Given the description of an element on the screen output the (x, y) to click on. 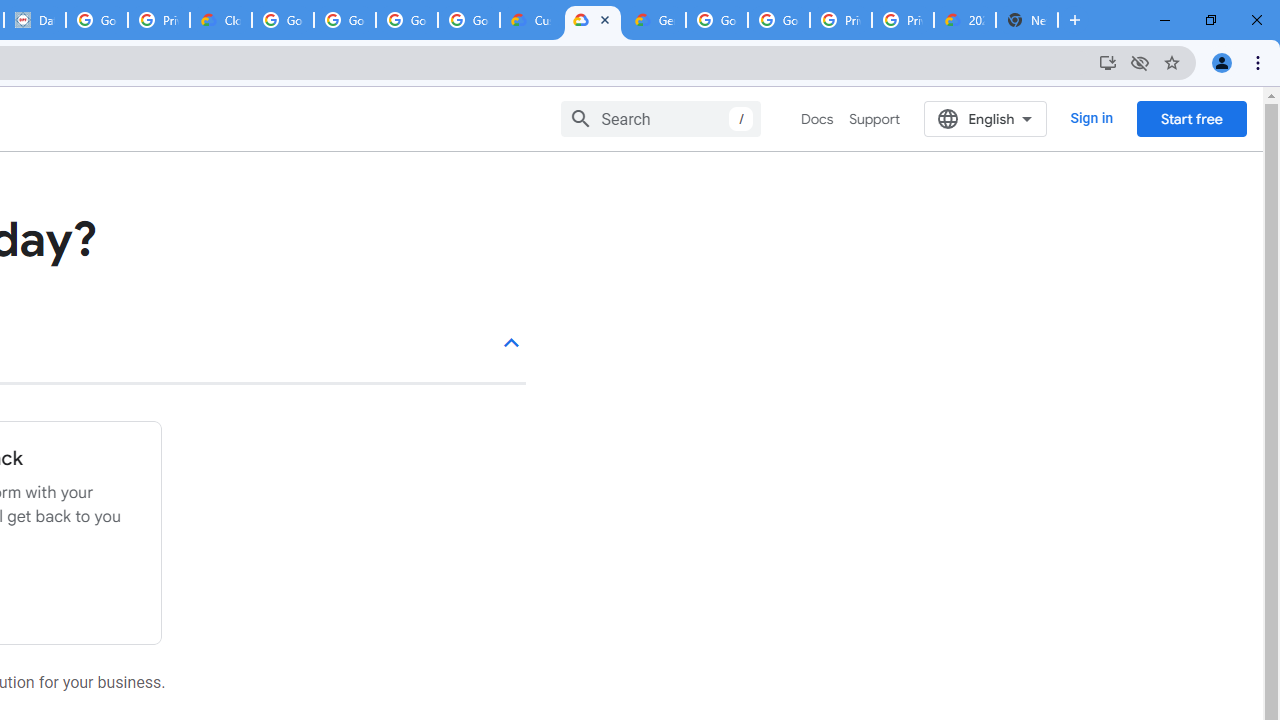
Customer Care | Google Cloud (530, 20)
Cloud Data Processing Addendum | Google Cloud (220, 20)
Install Google Cloud (1107, 62)
Docs (817, 119)
Start free (1191, 118)
